Given the description of an element on the screen output the (x, y) to click on. 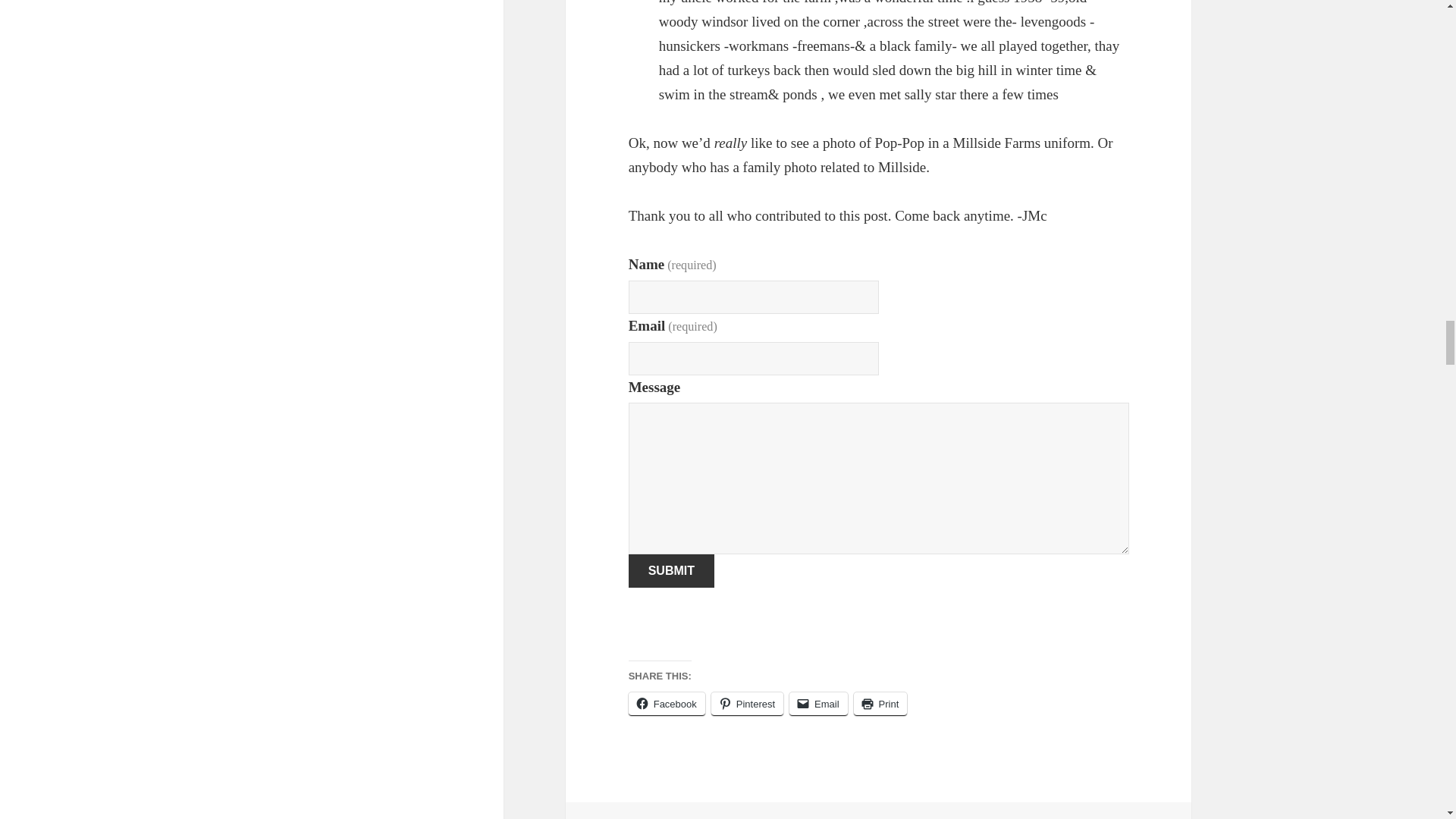
Click to share on Pinterest (747, 703)
Click to share on Facebook (666, 703)
Click to email a link to a friend (818, 703)
Click to print (880, 703)
